Given the description of an element on the screen output the (x, y) to click on. 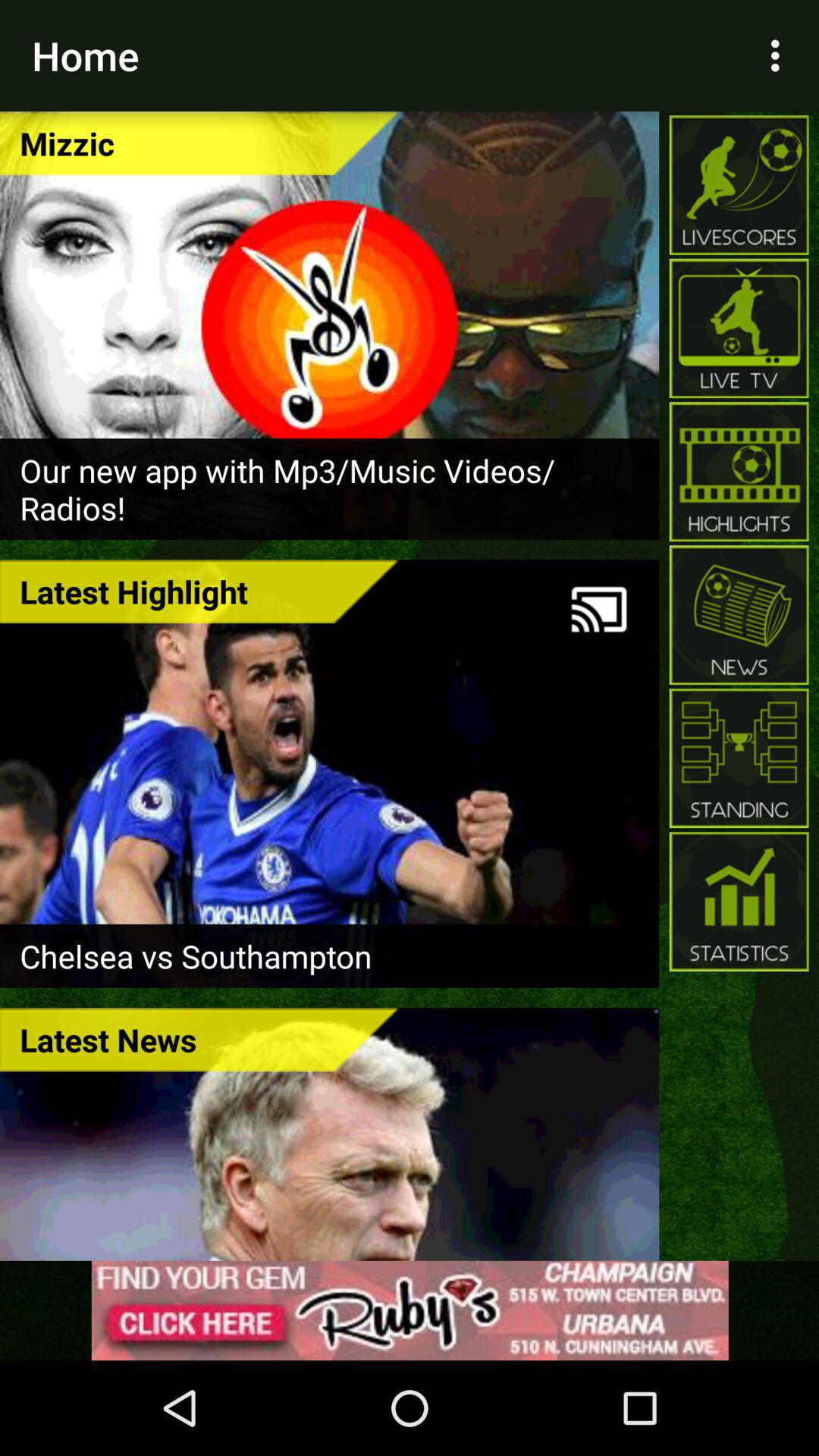
turn on the our new app icon (329, 488)
